Given the description of an element on the screen output the (x, y) to click on. 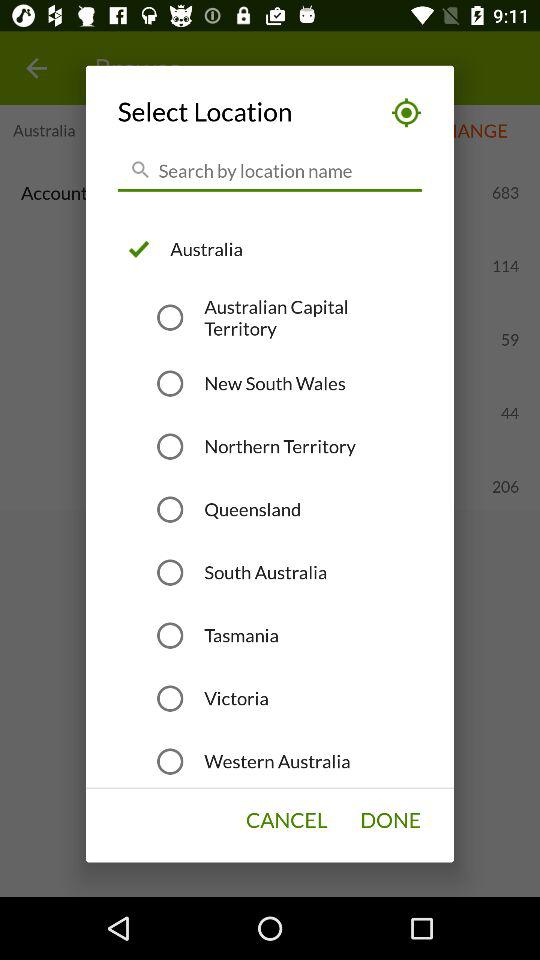
swipe until the cancel item (286, 820)
